Given the description of an element on the screen output the (x, y) to click on. 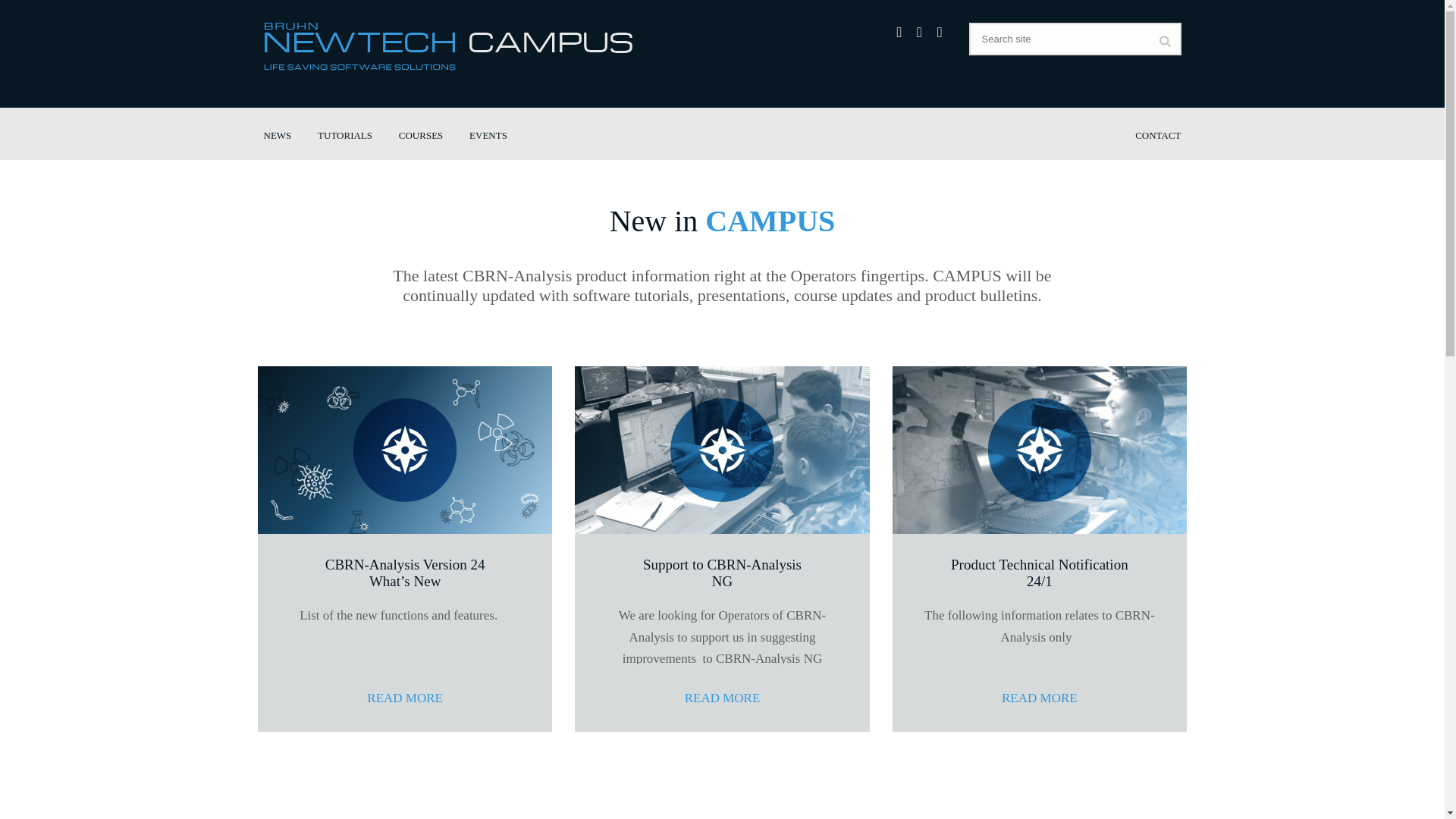
CONTACT (1157, 134)
NEWS (277, 134)
COURSES (421, 134)
Read more (722, 698)
READ MORE (1039, 698)
READ MORE (405, 698)
Bruhn (447, 65)
Read more (1039, 698)
EVENTS (487, 134)
Read more (405, 698)
